Given the description of an element on the screen output the (x, y) to click on. 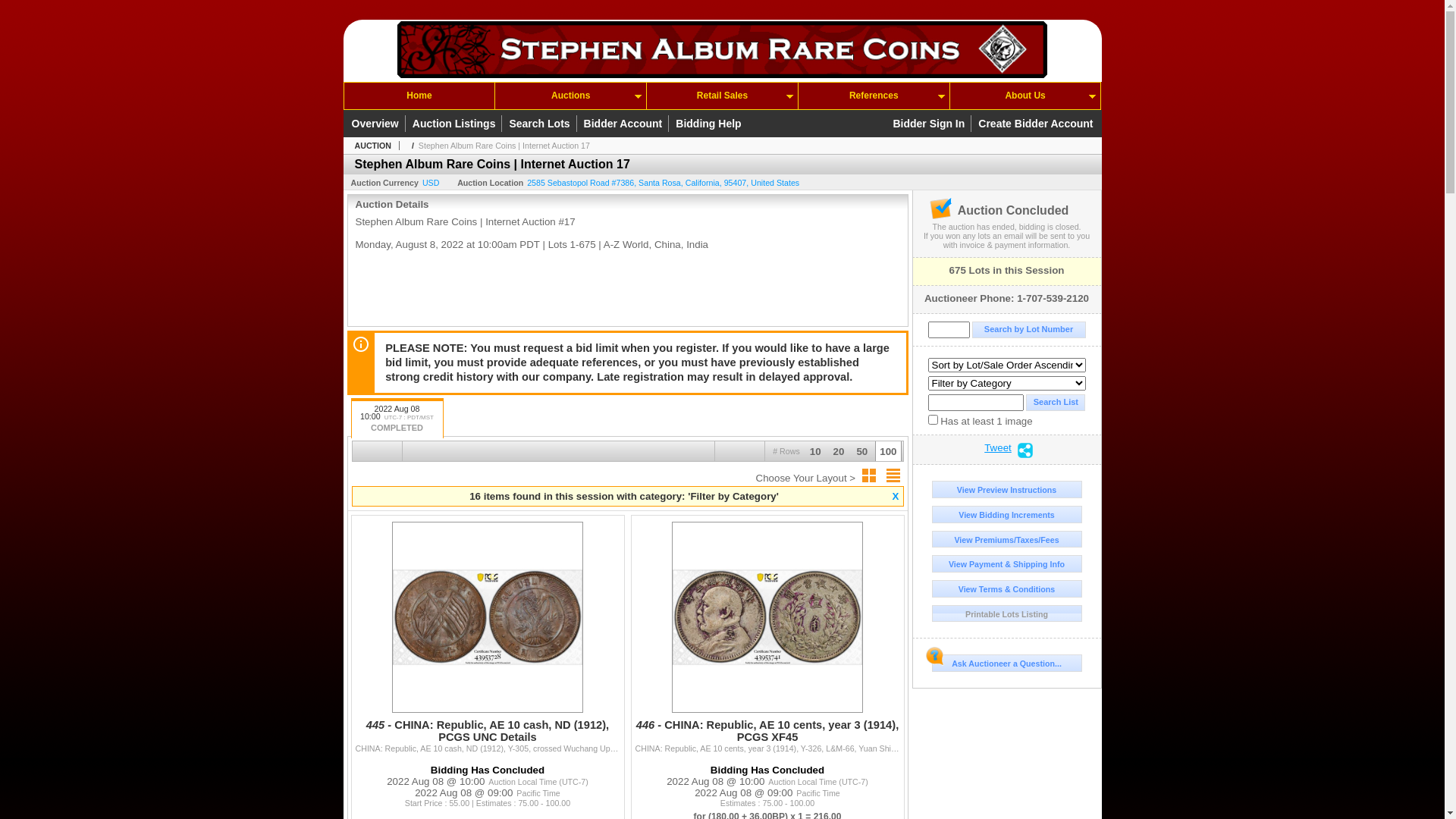
Bidding Help Element type: text (708, 123)
Ask Auctioneer a Question... Element type: text (1006, 662)
View Preview Instructions Element type: text (1006, 489)
20 Element type: text (838, 455)
Tweet Element type: text (997, 450)
CHINA: Republic, AE 10 cents, year 3 (1914), PCGS XF45 Element type: hover (767, 715)
50 Element type: text (861, 455)
Stephen Album Rare Coins | Internet Auction 17 Element type: text (503, 145)
Home Element type: text (419, 95)
References Element type: text (873, 95)
View Premiums/Taxes/Fees Element type: text (1006, 539)
X Element type: text (895, 496)
Auction Listings Element type: text (456, 123)
446 - CHINA: Republic, AE 10 cents, year 3 (1914), PCGS XF45 Element type: text (767, 737)
Bidder Sign In Element type: text (930, 123)
Switch to List View Element type: hover (892, 475)
100 Element type: text (887, 455)
Overview Element type: text (376, 123)
Create Bidder Account Element type: text (1035, 123)
Bidder Account Element type: text (625, 123)
View Terms & Conditions Element type: text (1006, 588)
Search Lots Element type: text (541, 123)
View Payment & Shipping Info Element type: text (1006, 563)
USD Element type: text (430, 182)
Switch to Grid View Element type: hover (868, 475)
CHINA: Republic, AE 10 cash, ND (1912), PCGS UNC Details Element type: hover (487, 715)
View Bidding Increments Element type: text (1006, 514)
on Element type: text (933, 419)
About Us Element type: text (1025, 95)
Retail Sales Element type: text (721, 95)
10 Element type: text (815, 455)
Auctions Element type: text (570, 95)
Printable Lots Listing Element type: text (1006, 613)
2022 Aug 08
10:00UTC-7 : PDT/MST
COMPLETED Element type: text (396, 418)
